Given the description of an element on the screen output the (x, y) to click on. 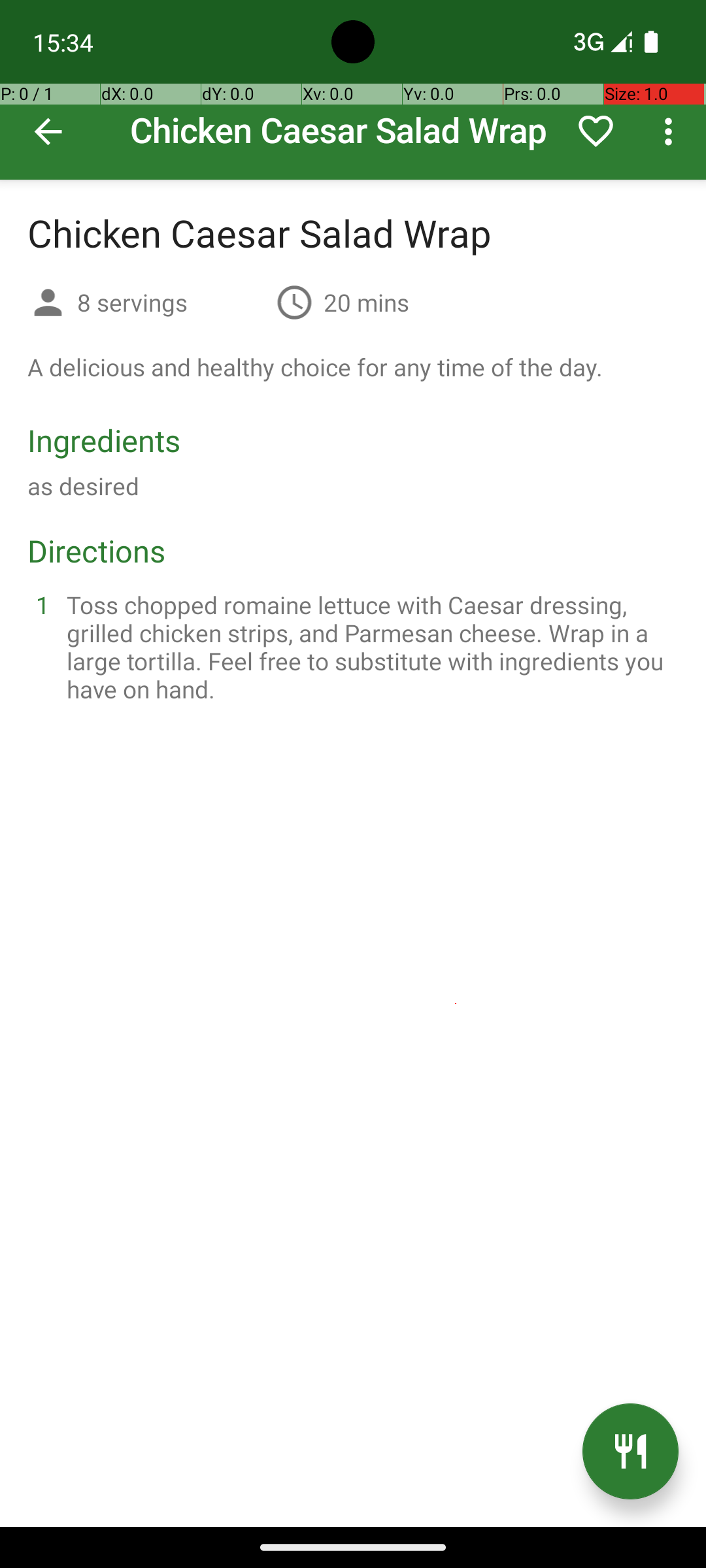
Chicken Caesar Salad Wrap Element type: android.widget.FrameLayout (353, 89)
Mark as favorite Element type: android.widget.Button (595, 131)
8 servings Element type: android.widget.TextView (170, 301)
20 mins Element type: android.widget.TextView (366, 301)
as desired Element type: android.widget.TextView (83, 485)
Toss chopped romaine lettuce with Caesar dressing, grilled chicken strips, and Parmesan cheese. Wrap in a large tortilla. Feel free to substitute with ingredients you have on hand. Element type: android.widget.TextView (368, 646)
